Given the description of an element on the screen output the (x, y) to click on. 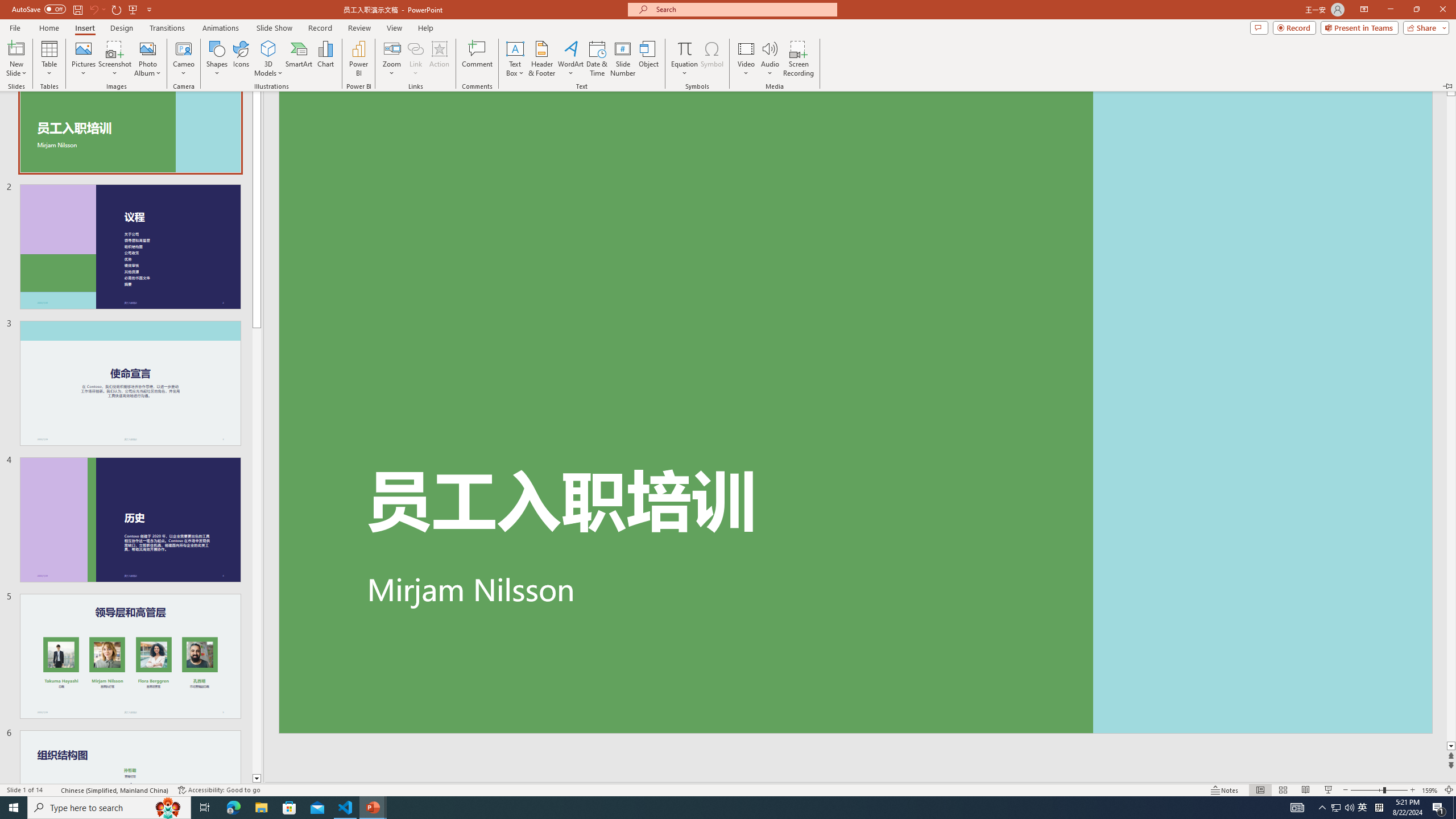
Action Center, 1 new notification (1439, 807)
Spell Check  (52, 790)
